Given the description of an element on the screen output the (x, y) to click on. 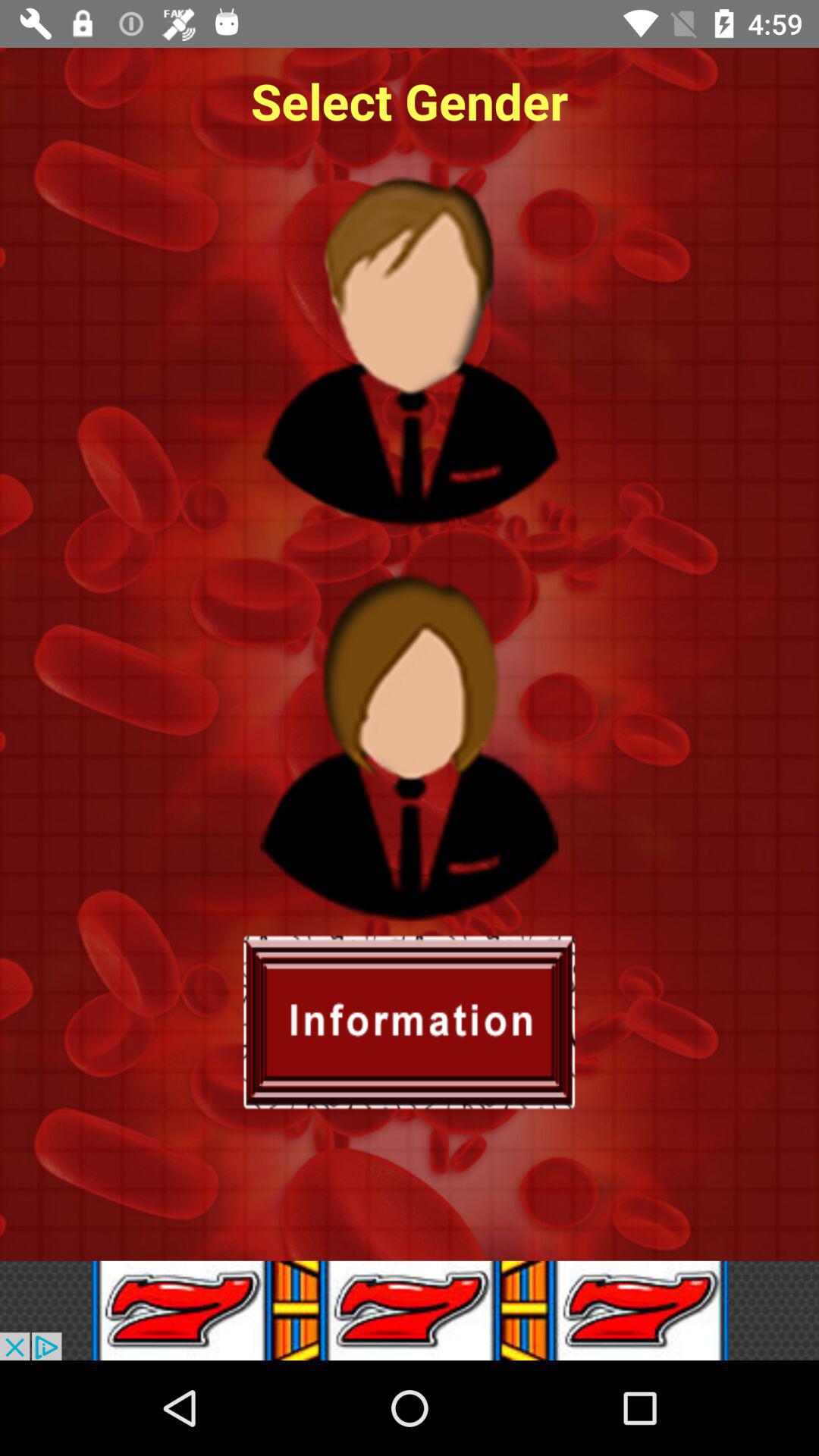
go to advertisement (409, 1310)
